Given the description of an element on the screen output the (x, y) to click on. 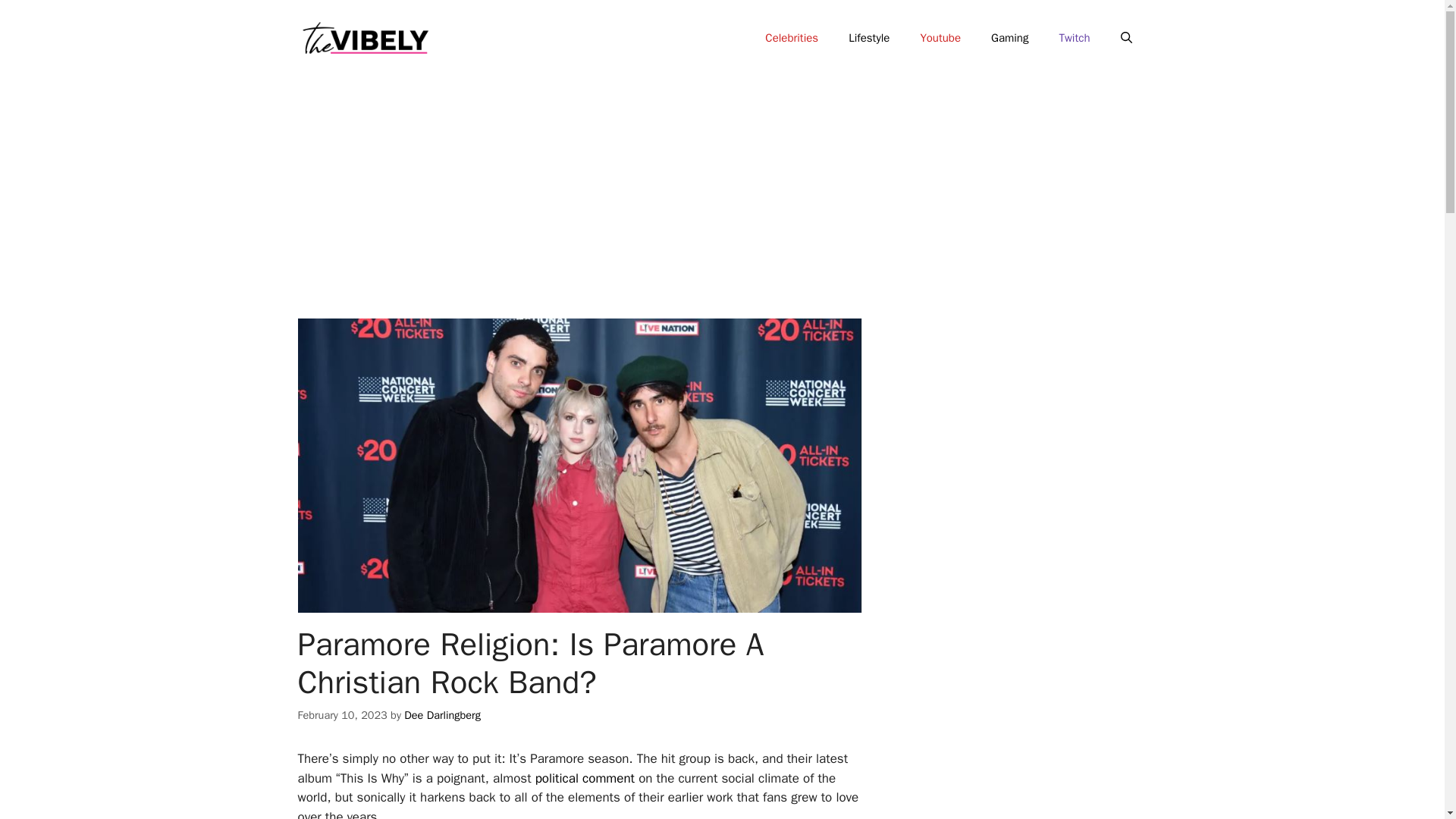
political comment (584, 778)
Dee Darlingberg (442, 714)
Celebrities (790, 37)
Lifestyle (868, 37)
Twitch (1074, 37)
Advertisement (1040, 443)
Youtube (939, 37)
Gaming (1009, 37)
View all posts by Dee Darlingberg (442, 714)
